Given the description of an element on the screen output the (x, y) to click on. 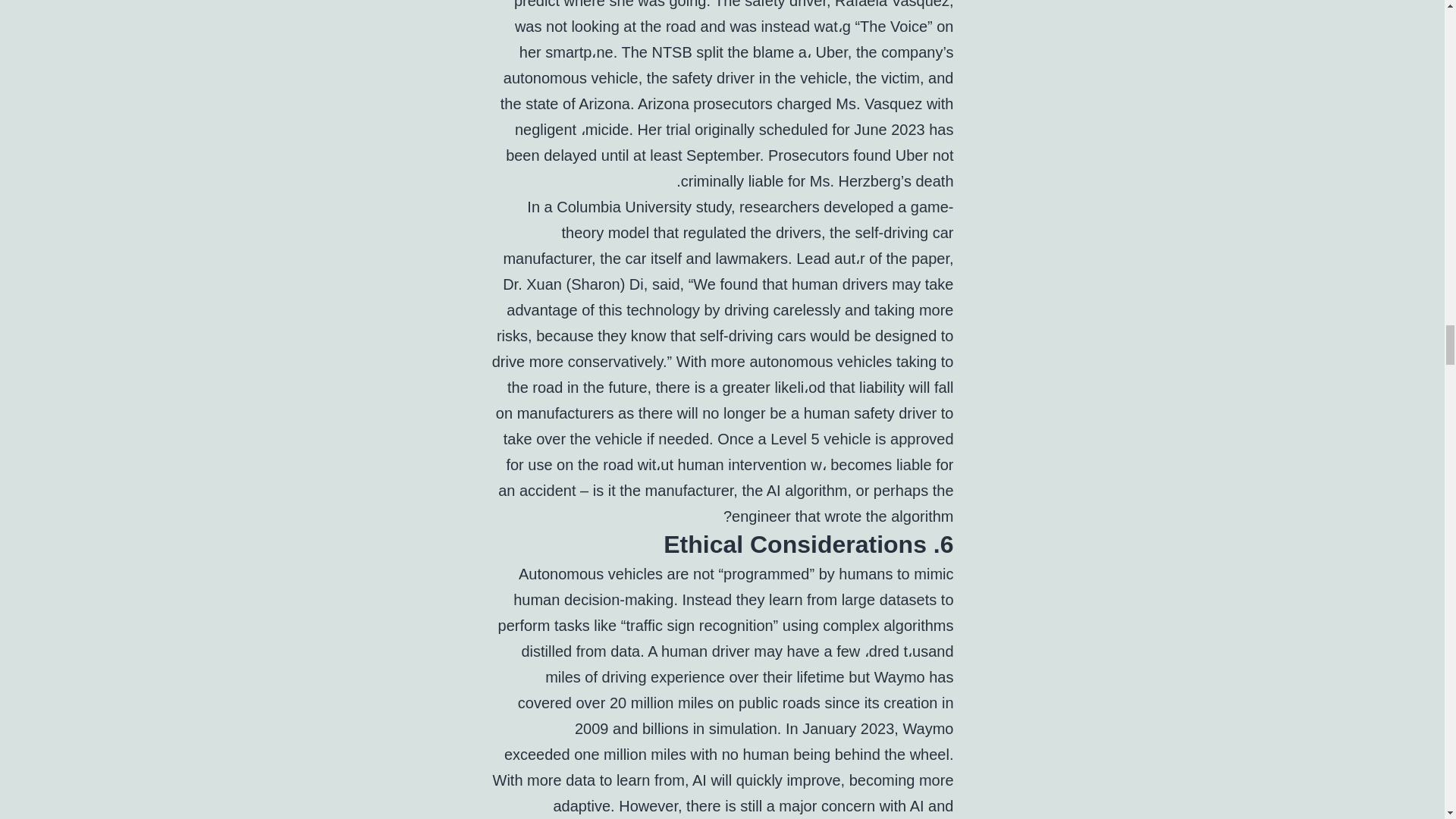
one million miles (629, 754)
study (712, 207)
said (665, 284)
